Given the description of an element on the screen output the (x, y) to click on. 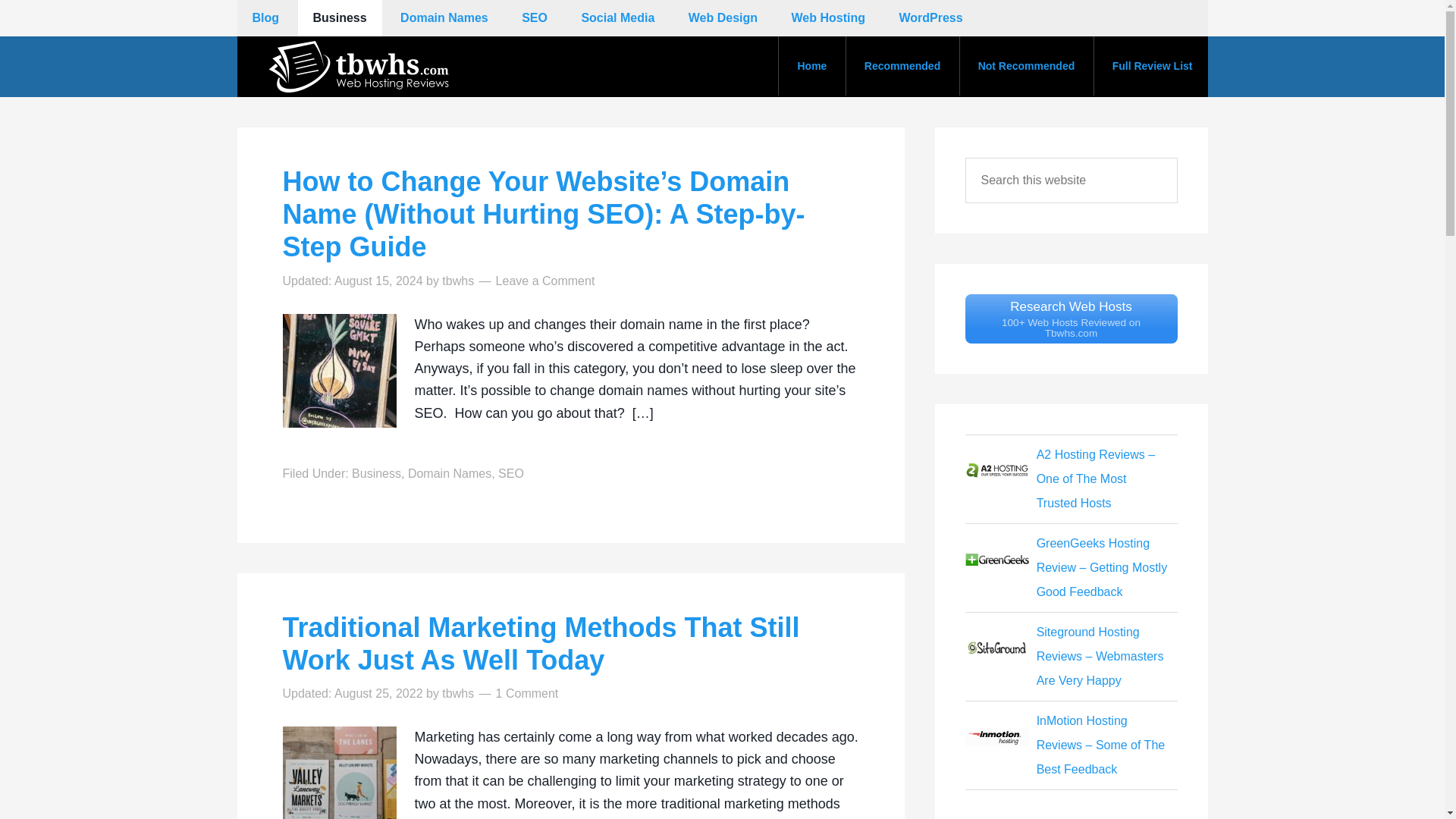
Web Design (722, 18)
Leave a Comment (545, 280)
Home (810, 65)
Web Hosting Reviews (1069, 318)
Social Media (617, 18)
WordPress (929, 18)
Full Review List (1152, 65)
Recommended (901, 65)
